Given the description of an element on the screen output the (x, y) to click on. 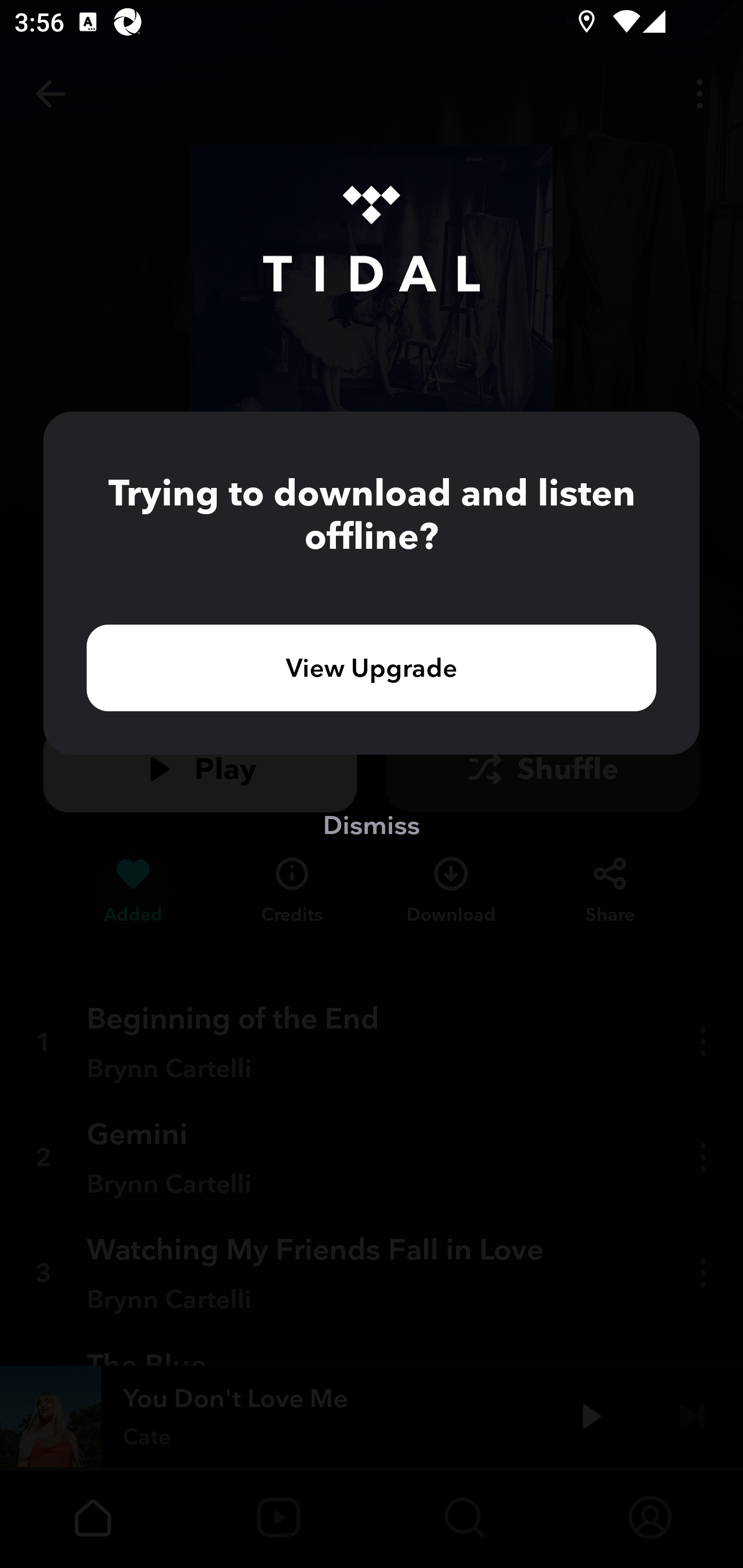
View Upgrade (371, 667)
Dismiss (371, 824)
